Given the description of an element on the screen output the (x, y) to click on. 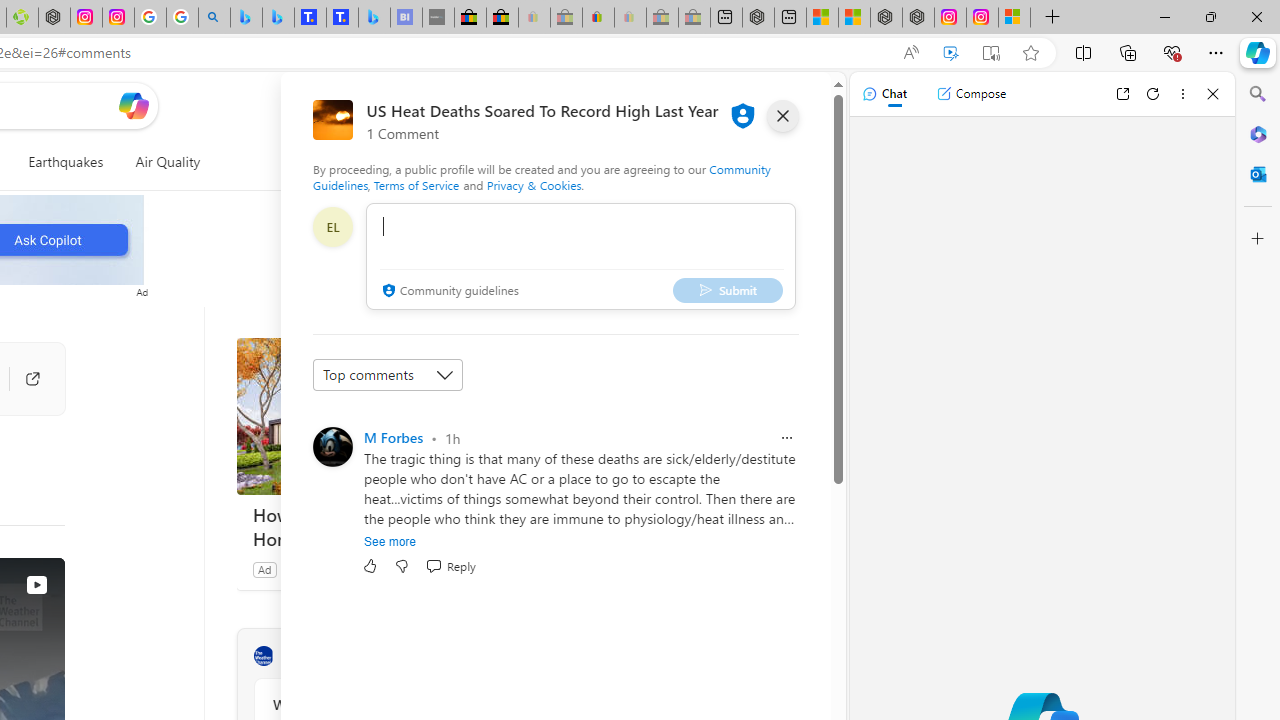
Shangri-La Bangkok, Hotel reviews and Room rates (342, 17)
M Forbes (393, 437)
LendingTree (313, 569)
alabama high school quarterback dies - Search (214, 17)
Earthquakes (65, 162)
Community guidelines (448, 291)
comment-box (581, 256)
